Given the description of an element on the screen output the (x, y) to click on. 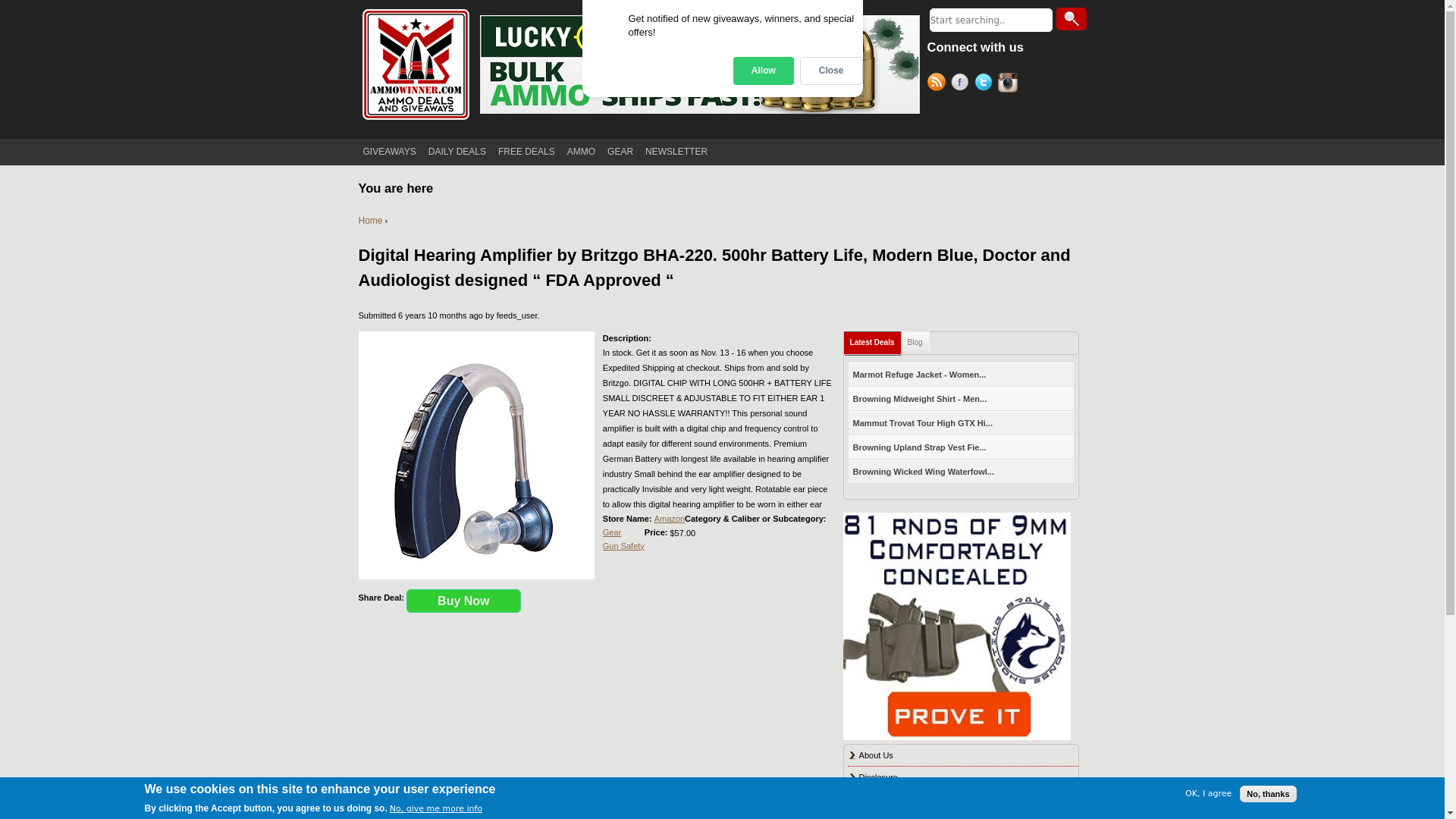
Follow Ammowinner on RSS (938, 83)
Follow Ammowinner on Instagram (1009, 83)
Mammut Trovat Tour High GTX Hi... (922, 423)
Blog (915, 341)
Latest Deals (872, 342)
DAILY DEALS (456, 151)
Instagram (1009, 83)
Home (414, 64)
Gun Safety (623, 545)
Buy Now (462, 600)
